Given the description of an element on the screen output the (x, y) to click on. 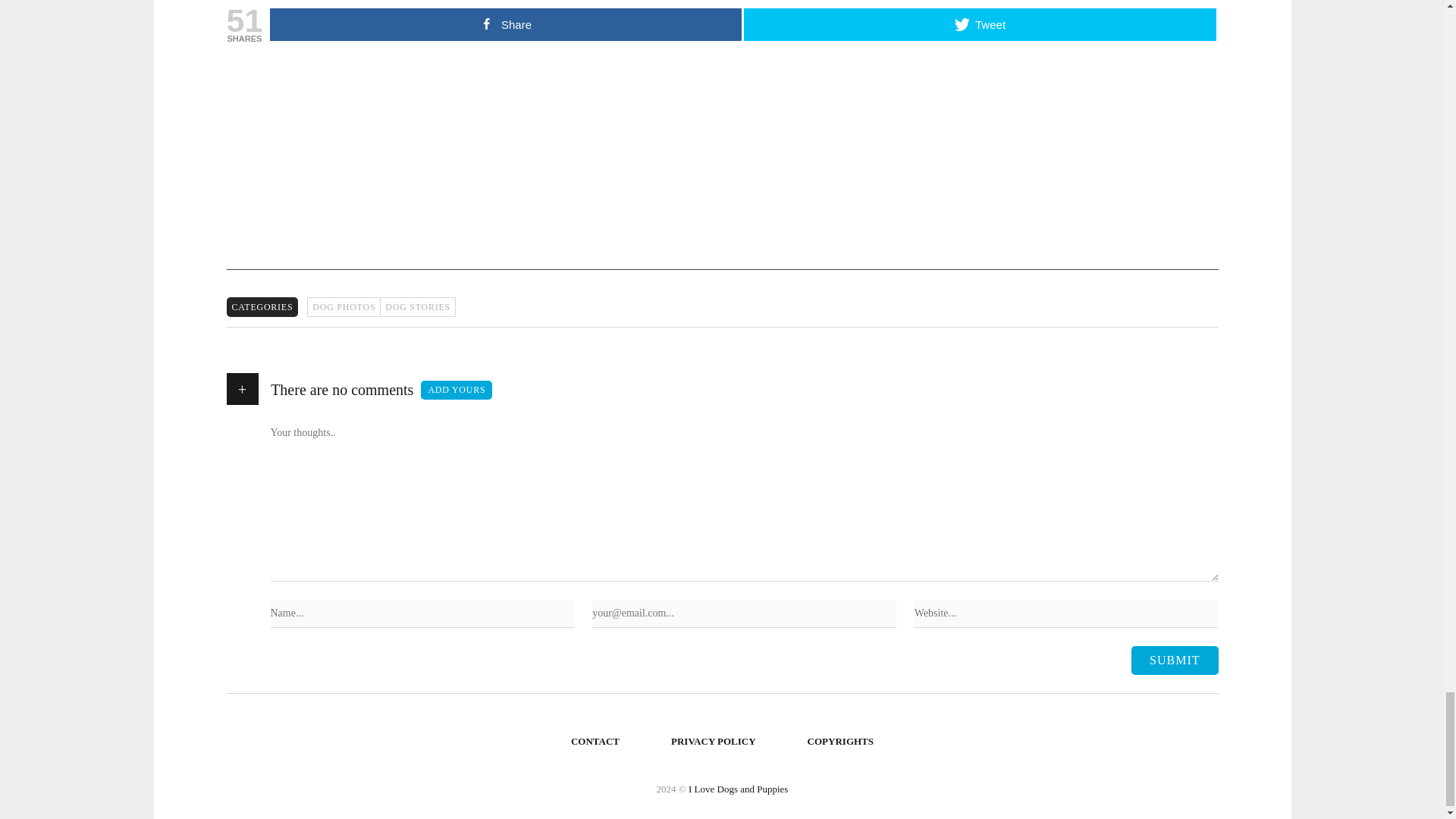
Tweet (979, 24)
ADD YOURS (456, 390)
View all posts in Dog Photos (343, 306)
DOG STORIES (417, 306)
Submit (1174, 660)
I Love Dogs and Puppies (737, 788)
DOG PHOTOS (343, 306)
COPYRIGHTS (839, 741)
Share (505, 24)
Submit (1174, 660)
CONTACT (595, 741)
View all posts in Dog Stories (417, 306)
PRIVACY POLICY (714, 741)
